Given the description of an element on the screen output the (x, y) to click on. 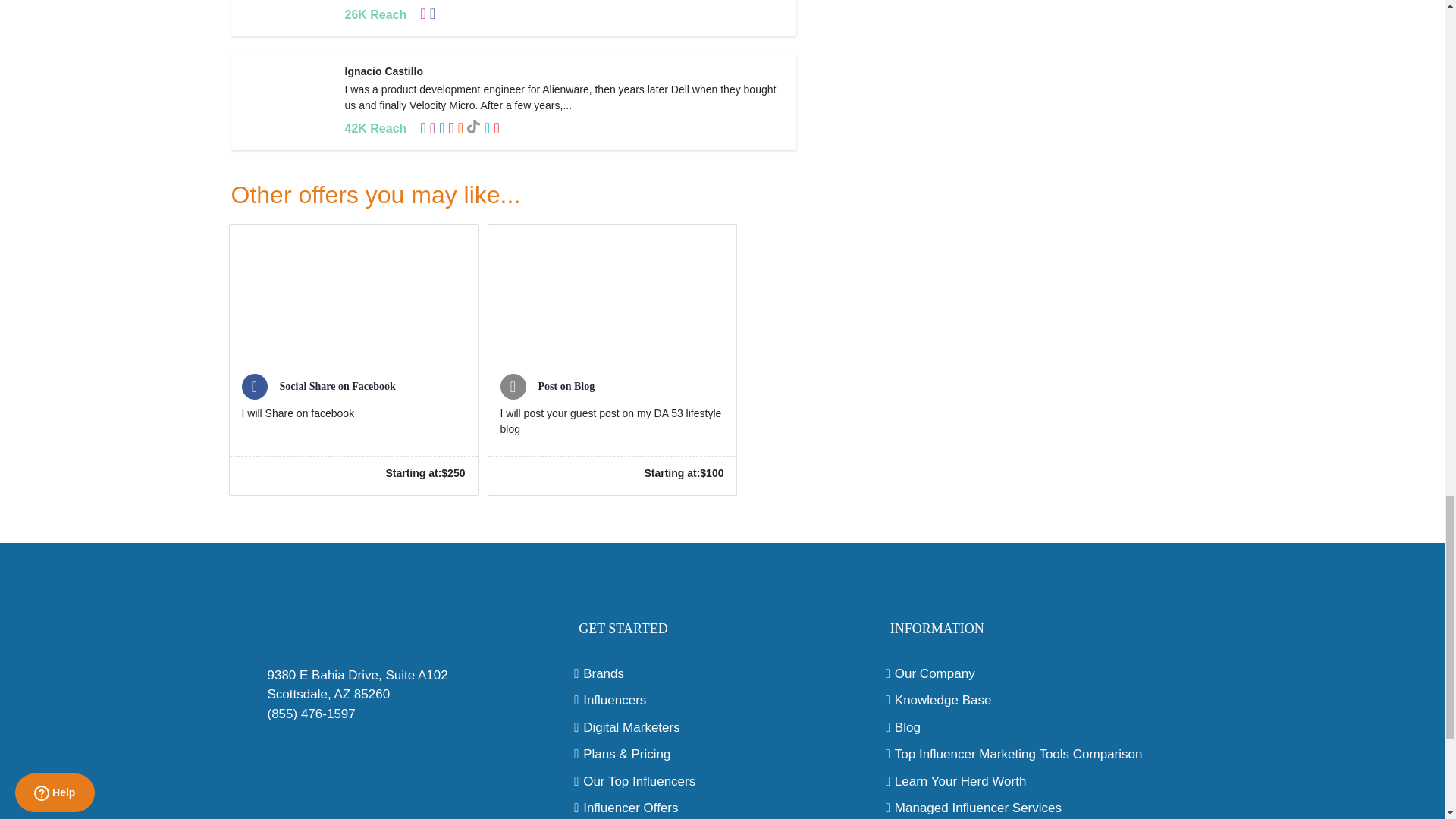
Influencers (722, 700)
Digital Marketers (722, 727)
Ignacio Castillo (382, 70)
Brands (722, 673)
